Given the description of an element on the screen output the (x, y) to click on. 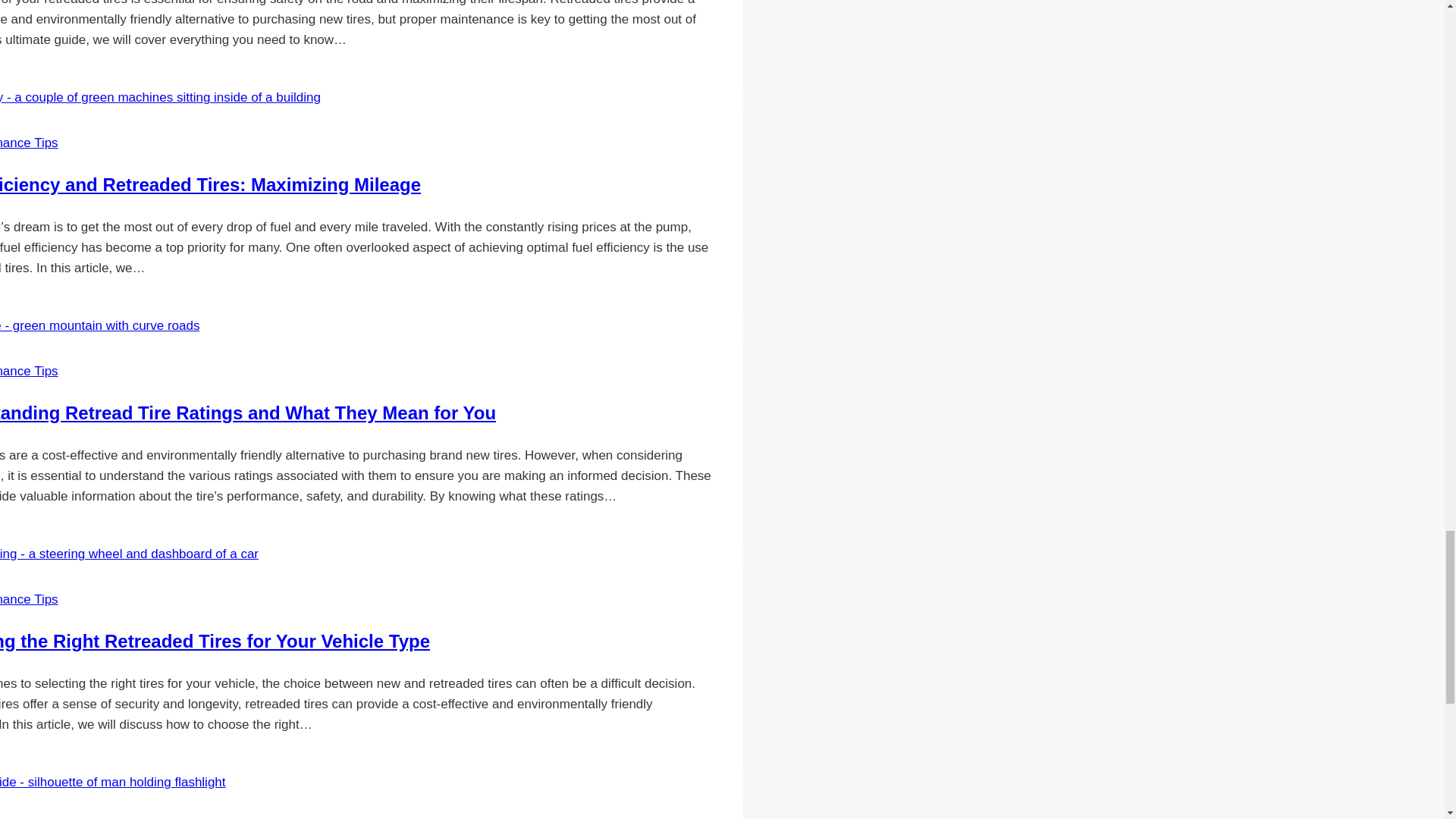
Tire Maintenance Tips (29, 142)
Tire Maintenance Tips (29, 599)
Choosing the Right Retreaded Tires for Your Vehicle Type (214, 640)
Fuel Efficiency and Retreaded Tires: Maximizing Mileage (210, 184)
Tire Maintenance Tips (29, 370)
